Given the description of an element on the screen output the (x, y) to click on. 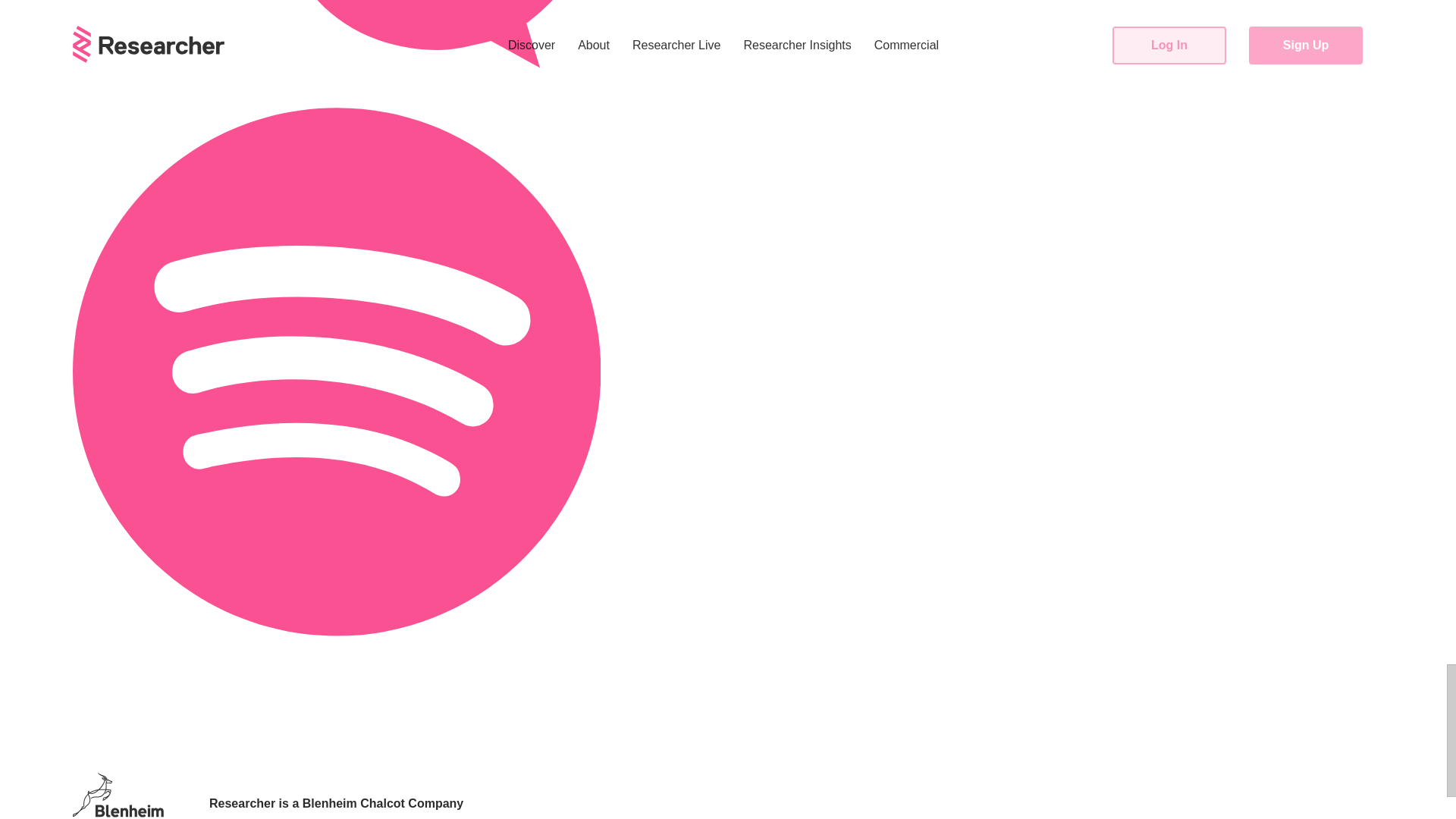
Blenheim Chalcot (353, 802)
Researcher (242, 802)
